Given the description of an element on the screen output the (x, y) to click on. 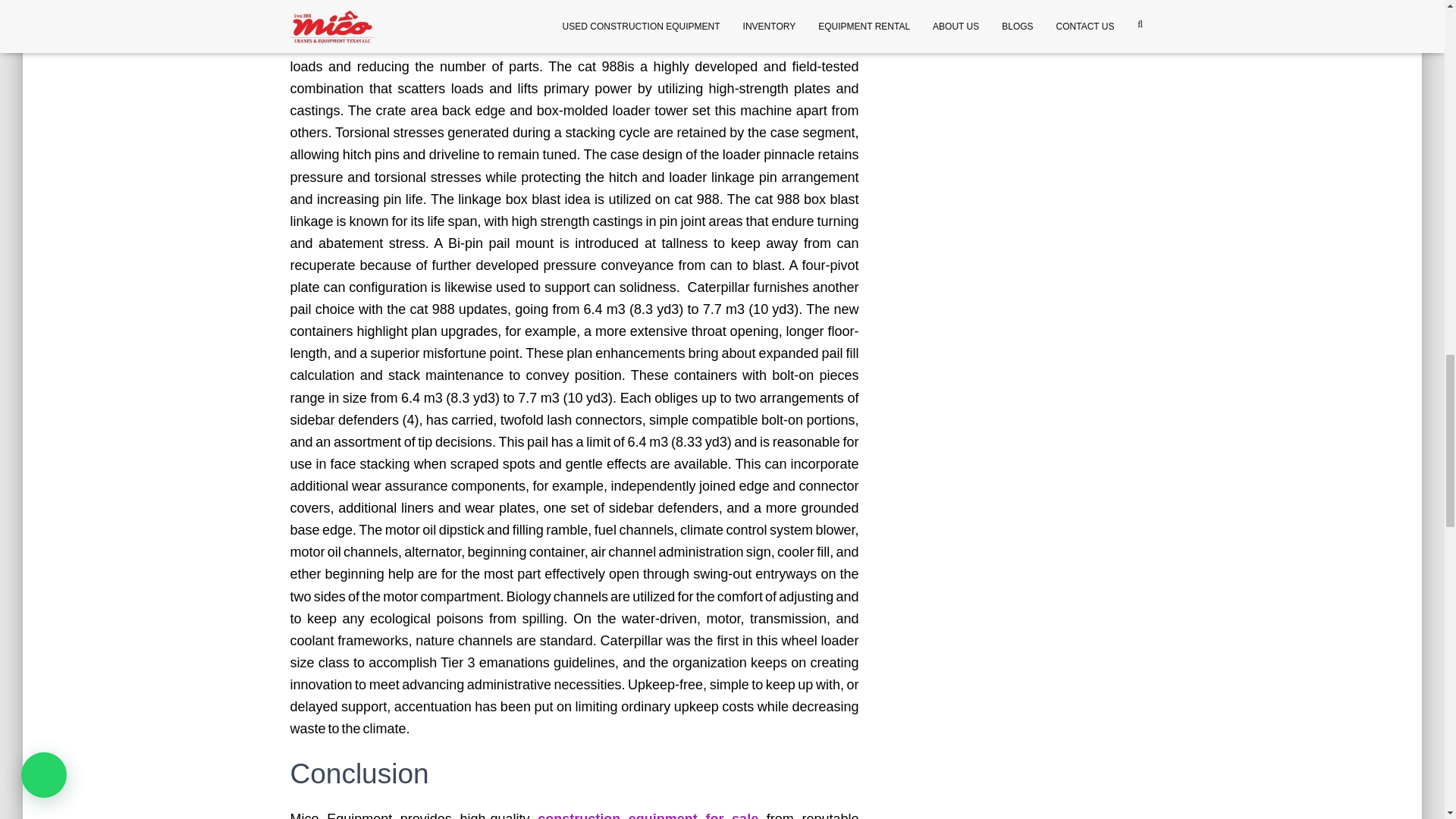
construction equipment for sale (652, 815)
